Given the description of an element on the screen output the (x, y) to click on. 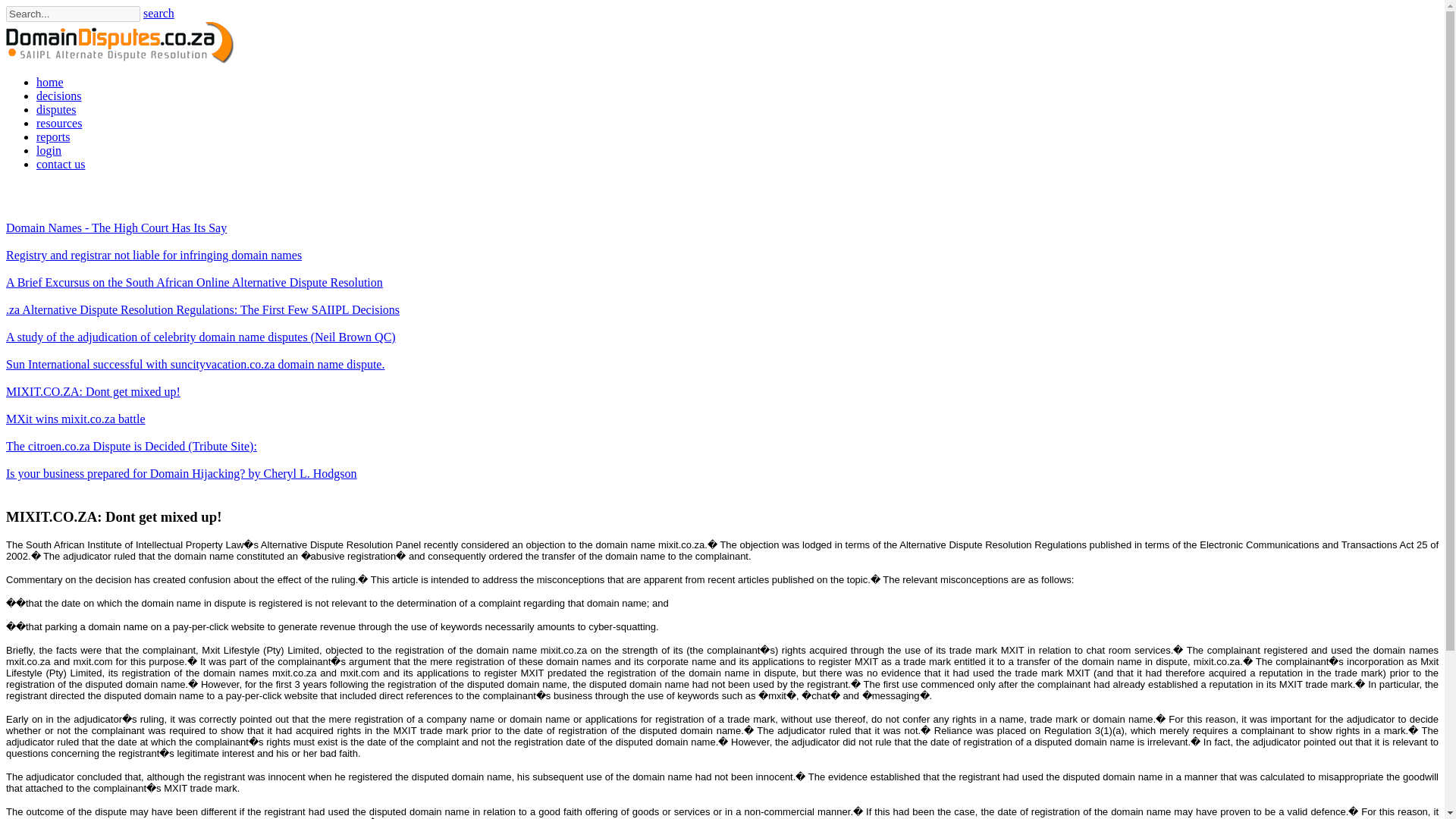
reports (52, 136)
resources (58, 123)
home (50, 82)
decisions (58, 95)
disputes (55, 109)
login (48, 150)
MIXIT.CO.ZA: Dont get mixed up! (92, 391)
